Given the description of an element on the screen output the (x, y) to click on. 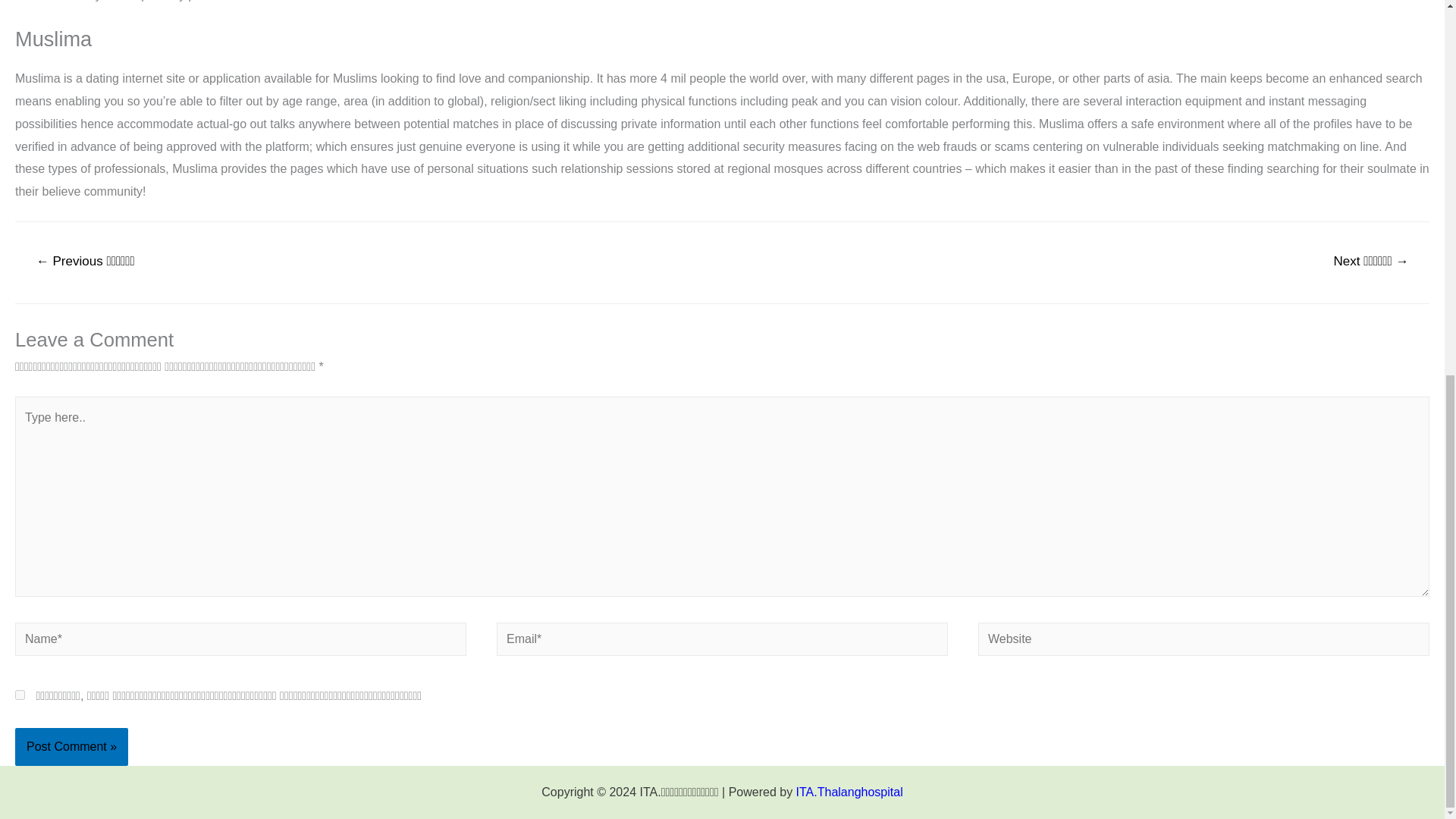
yes (19, 695)
